Given the description of an element on the screen output the (x, y) to click on. 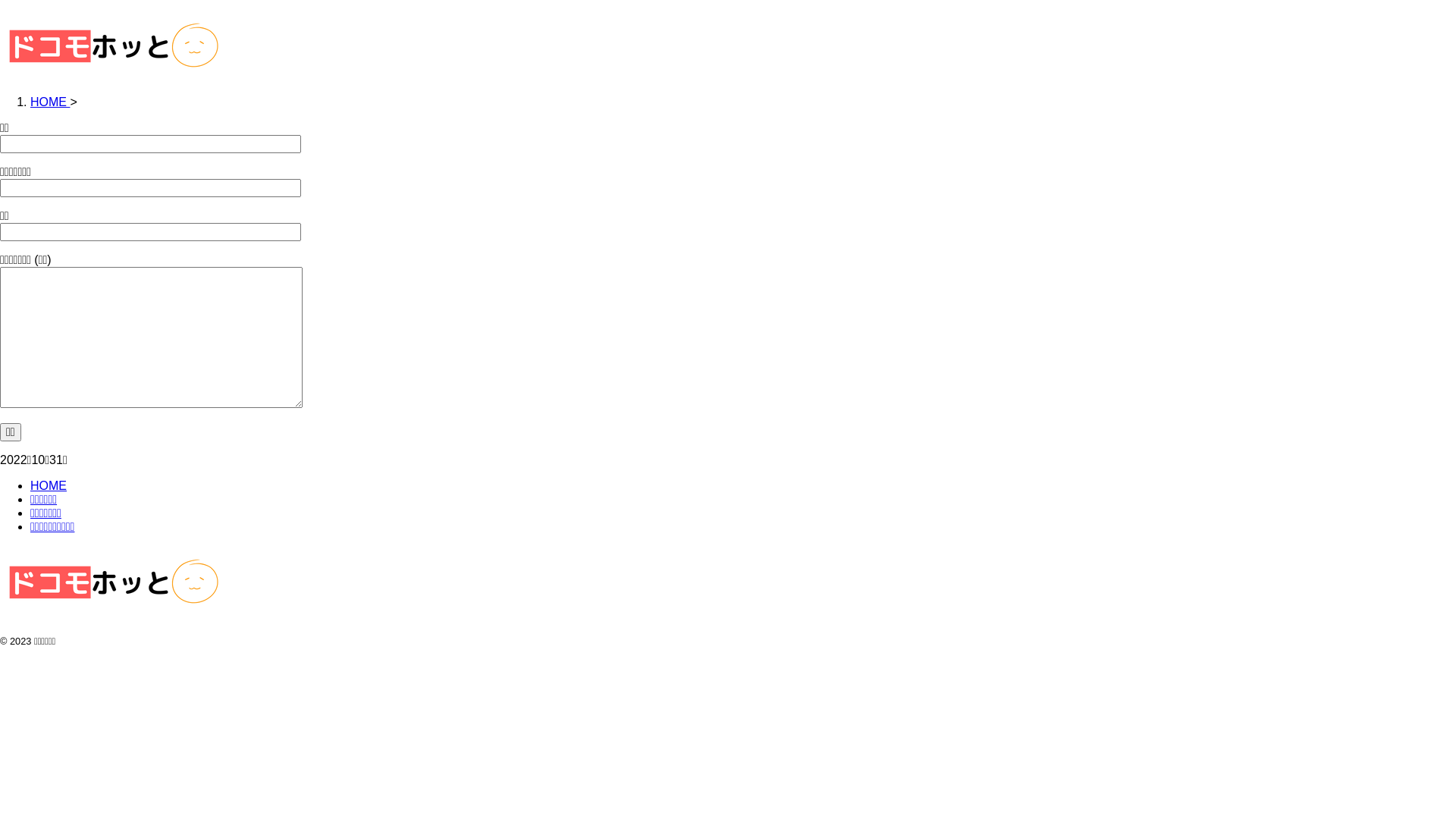
HOME Element type: text (49, 101)
HOME Element type: text (48, 485)
